Given the description of an element on the screen output the (x, y) to click on. 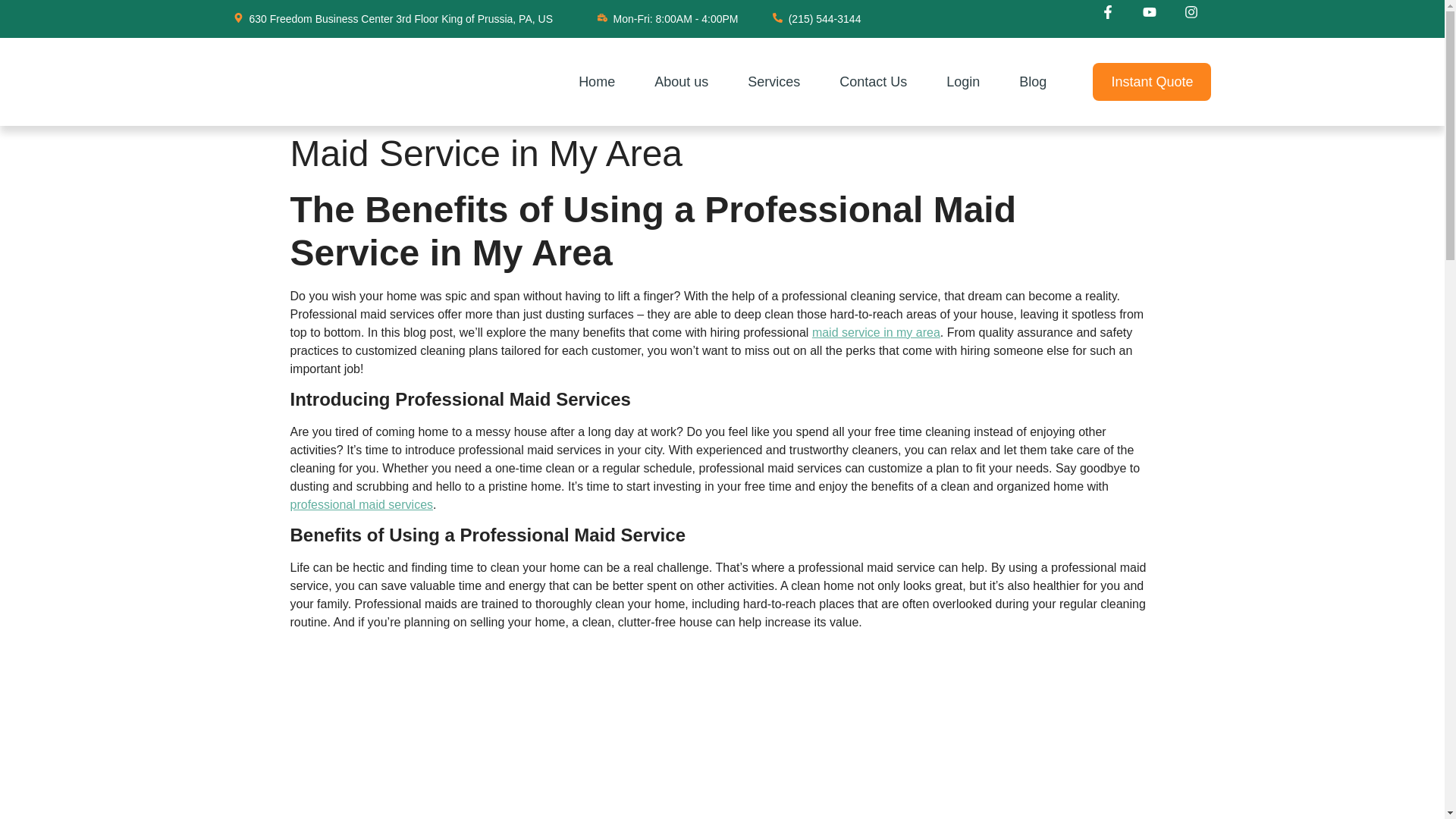
Contact Us (873, 81)
Home (596, 81)
maid service in my area (876, 332)
professional maid services (360, 504)
Services (773, 81)
Instant Quote (1152, 81)
About us (680, 81)
